Given the description of an element on the screen output the (x, y) to click on. 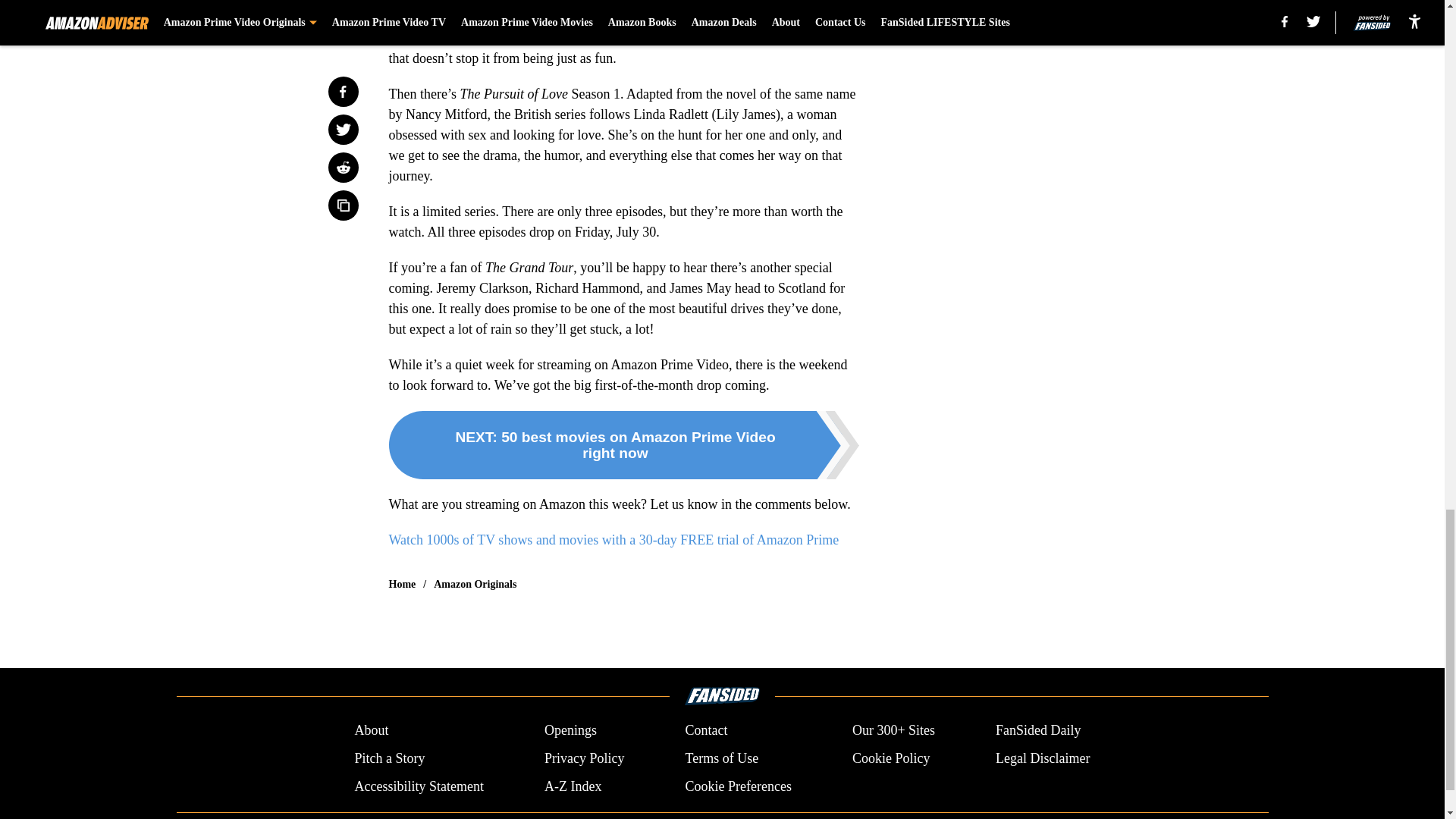
Legal Disclaimer (1042, 758)
Home (401, 584)
Terms of Use (721, 758)
About (370, 730)
Pitch a Story (389, 758)
FanSided Daily (1038, 730)
Cookie Policy (890, 758)
NEXT: 50 best movies on Amazon Prime Video right now (623, 445)
Privacy Policy (584, 758)
